Given the description of an element on the screen output the (x, y) to click on. 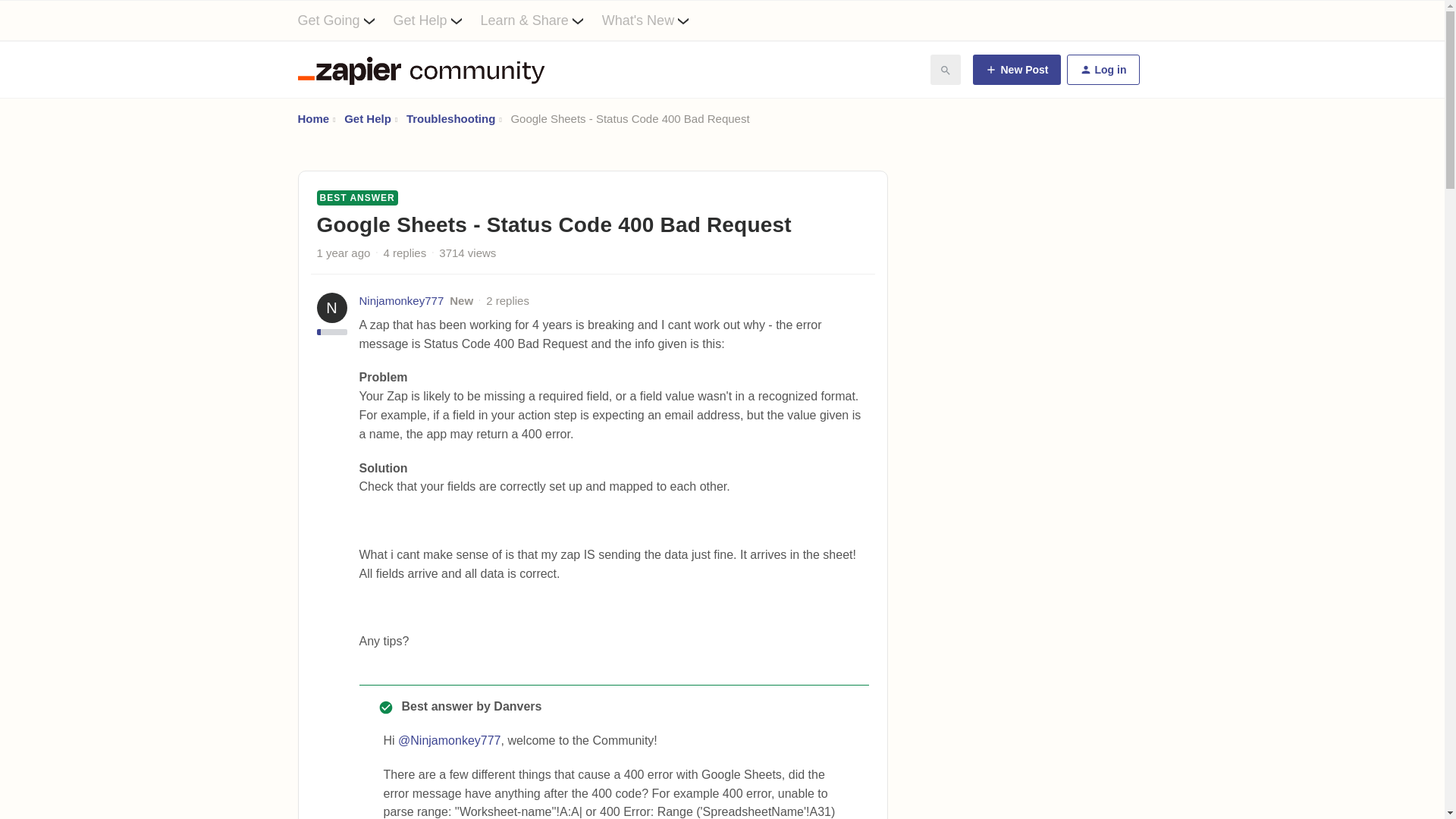
New Post (1015, 69)
New (461, 300)
Log in (1101, 69)
Get Help (436, 20)
What's New (654, 20)
Home (313, 118)
Get Going (345, 20)
Get Help (367, 118)
New Post (1015, 69)
